Given the description of an element on the screen output the (x, y) to click on. 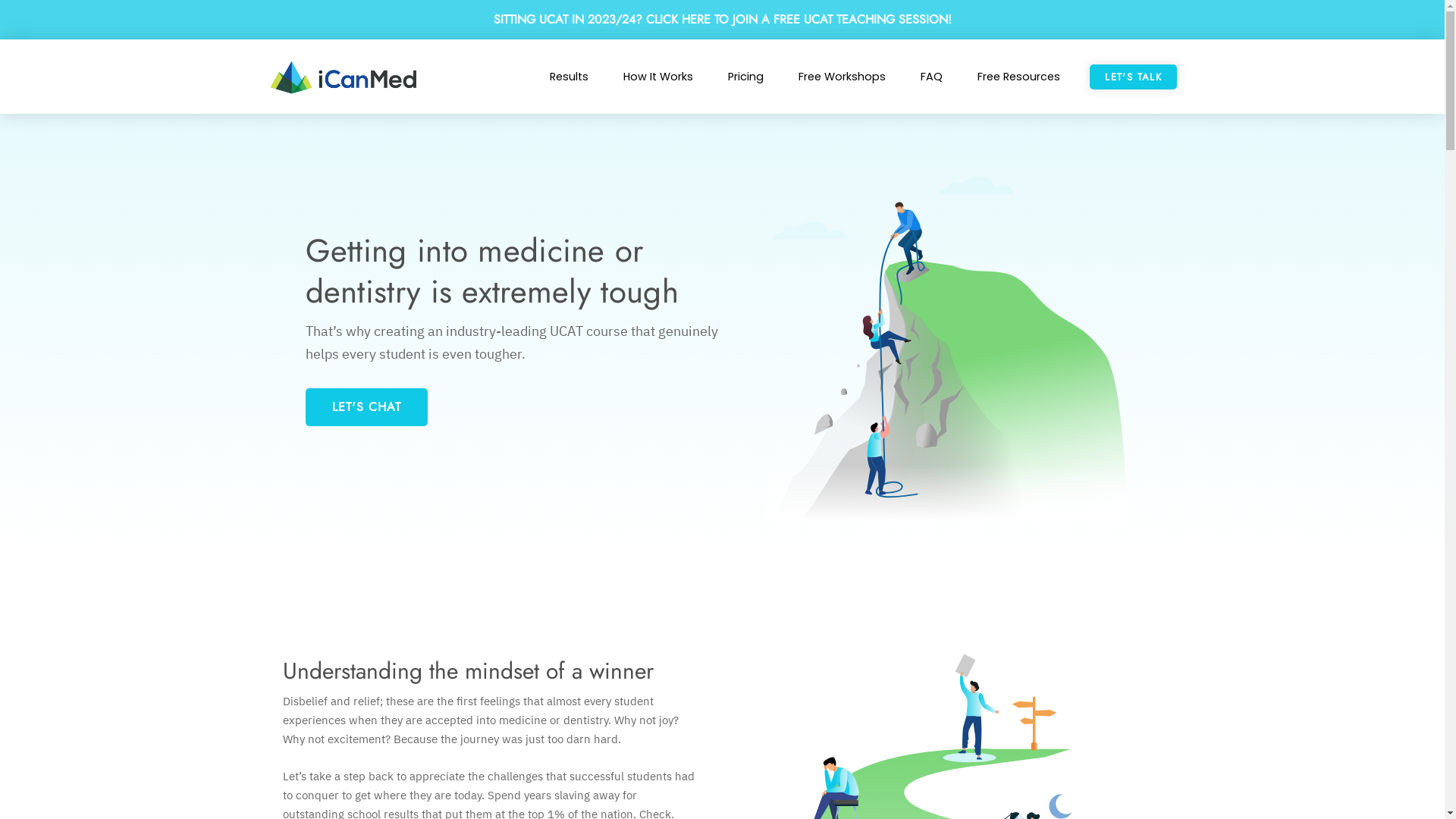
How It Works Element type: text (658, 76)
Free Workshops Element type: text (841, 76)
LET'S TALK Element type: text (1132, 76)
LET'S CHAT Element type: text (365, 407)
Results Element type: text (568, 76)
Pricing Element type: text (745, 76)
FAQ Element type: text (931, 76)
Free Resources Element type: text (1018, 76)
